Given the description of an element on the screen output the (x, y) to click on. 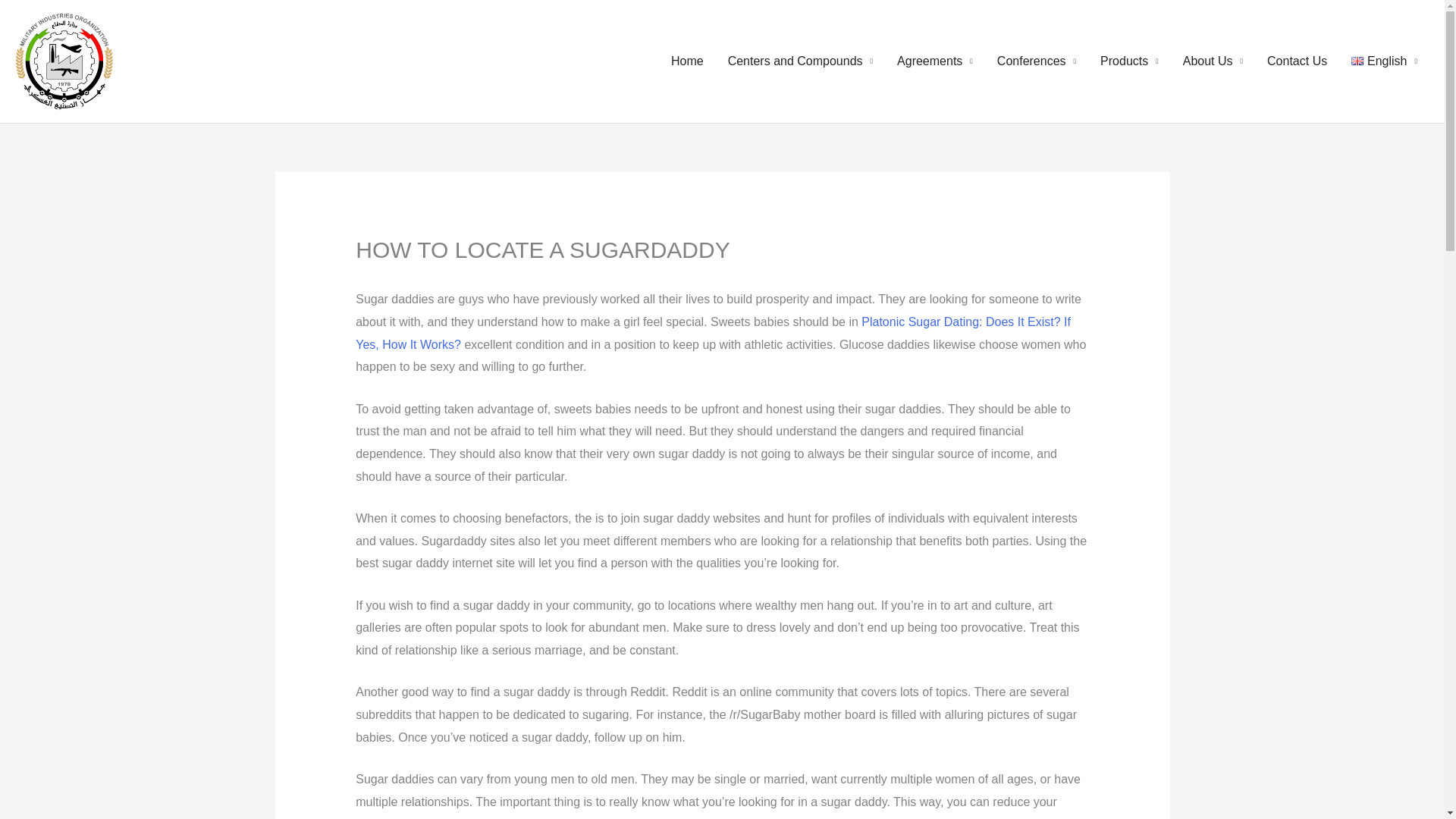
Contact Us (1297, 60)
Products (1128, 60)
About Us (1212, 60)
Conferences (1036, 60)
Home (687, 60)
Agreements (935, 60)
Centers and Compounds (800, 60)
English (1384, 60)
Platonic Sugar Dating: Does It Exist? If Yes, How It Works? (712, 333)
